Given the description of an element on the screen output the (x, y) to click on. 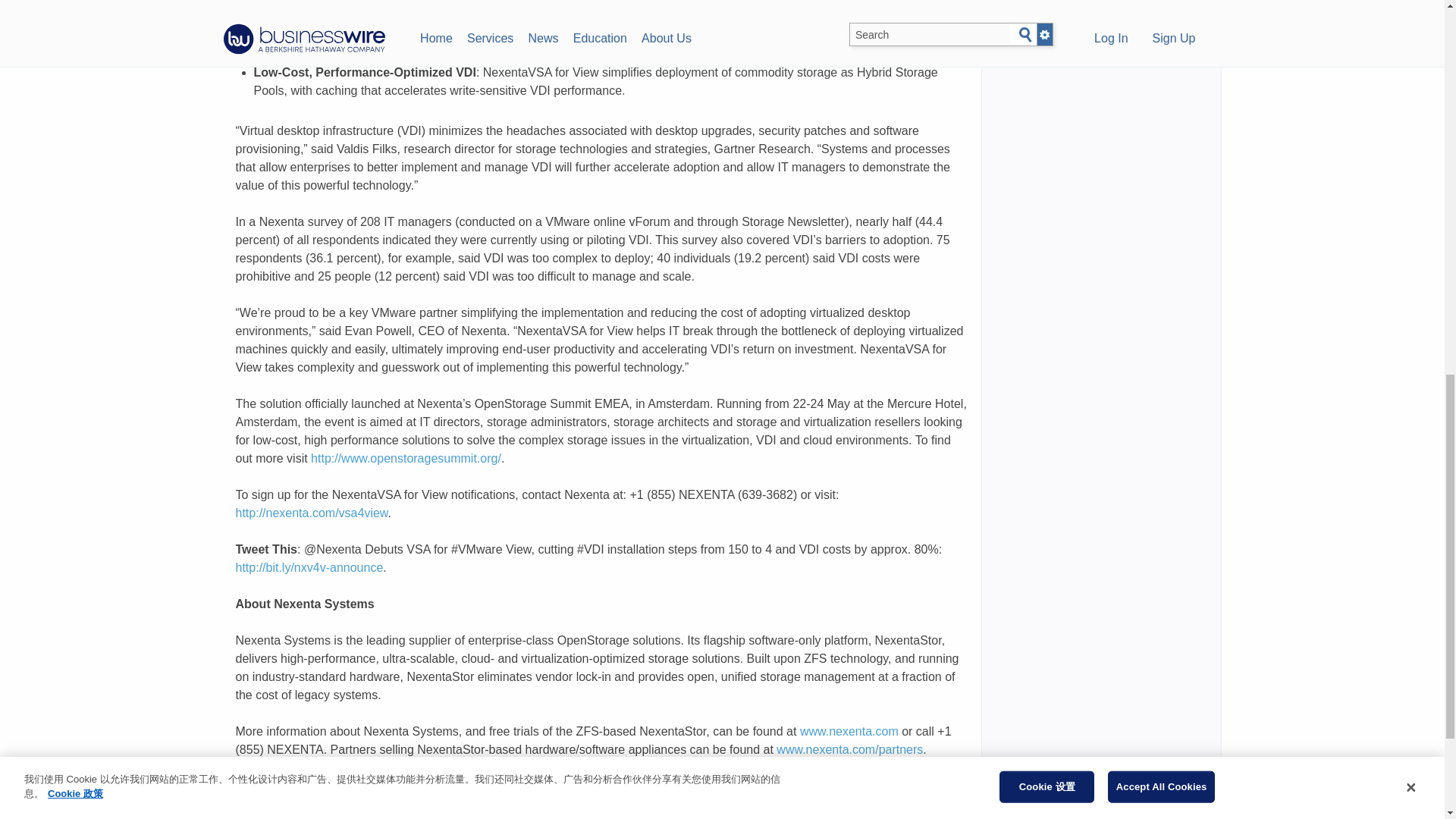
www.nexenta.com (848, 730)
